Given the description of an element on the screen output the (x, y) to click on. 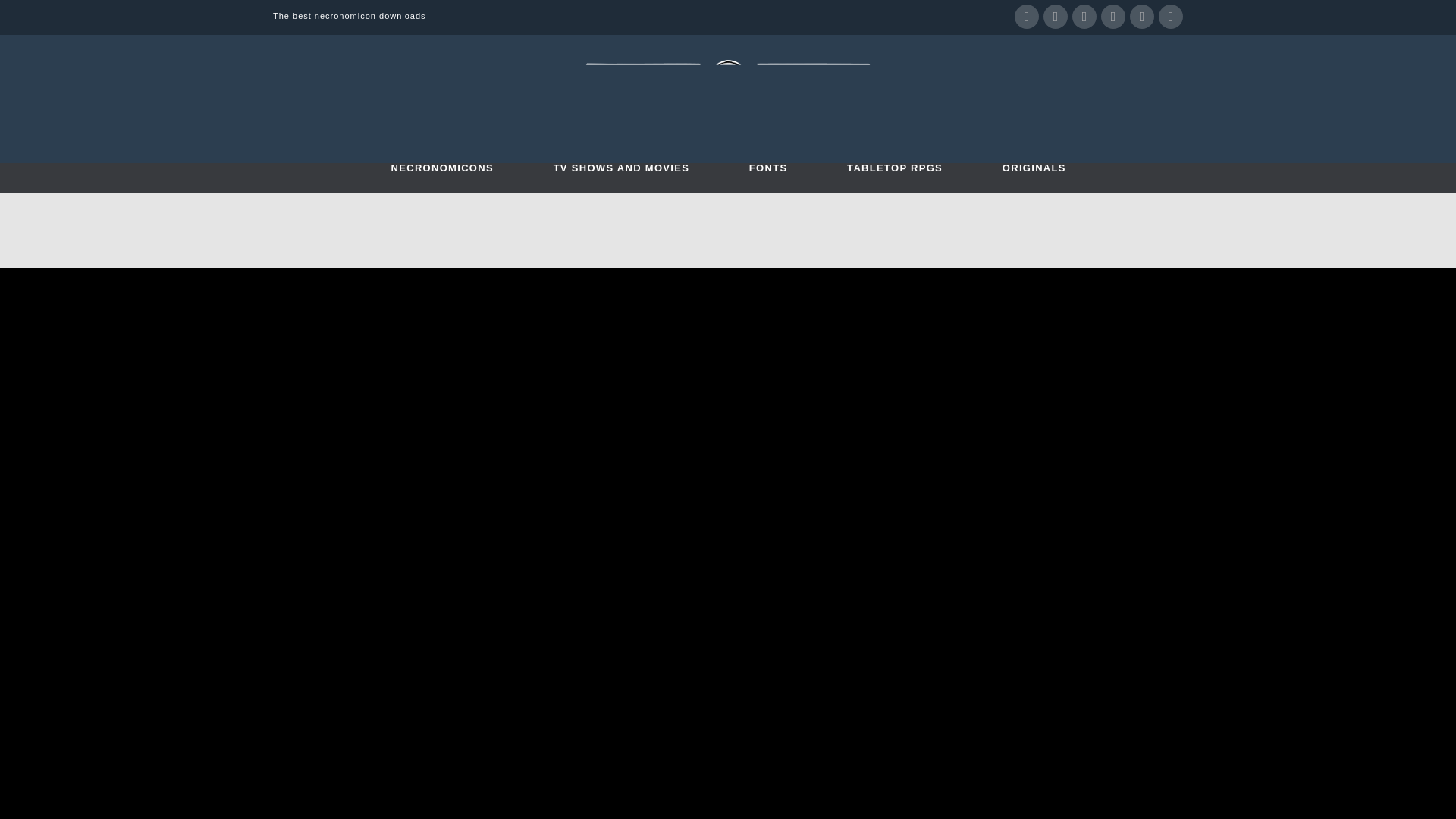
Twitter (1055, 16)
TABLETOP RPGS (894, 177)
ORIGINALS (1034, 177)
FONTS (767, 177)
YouTube (1083, 16)
Facebook (1026, 16)
Instagram (1112, 16)
NECRONOMICONS (441, 177)
Pinterest (1141, 16)
TV SHOWS AND MOVIES (620, 177)
